Given the description of an element on the screen output the (x, y) to click on. 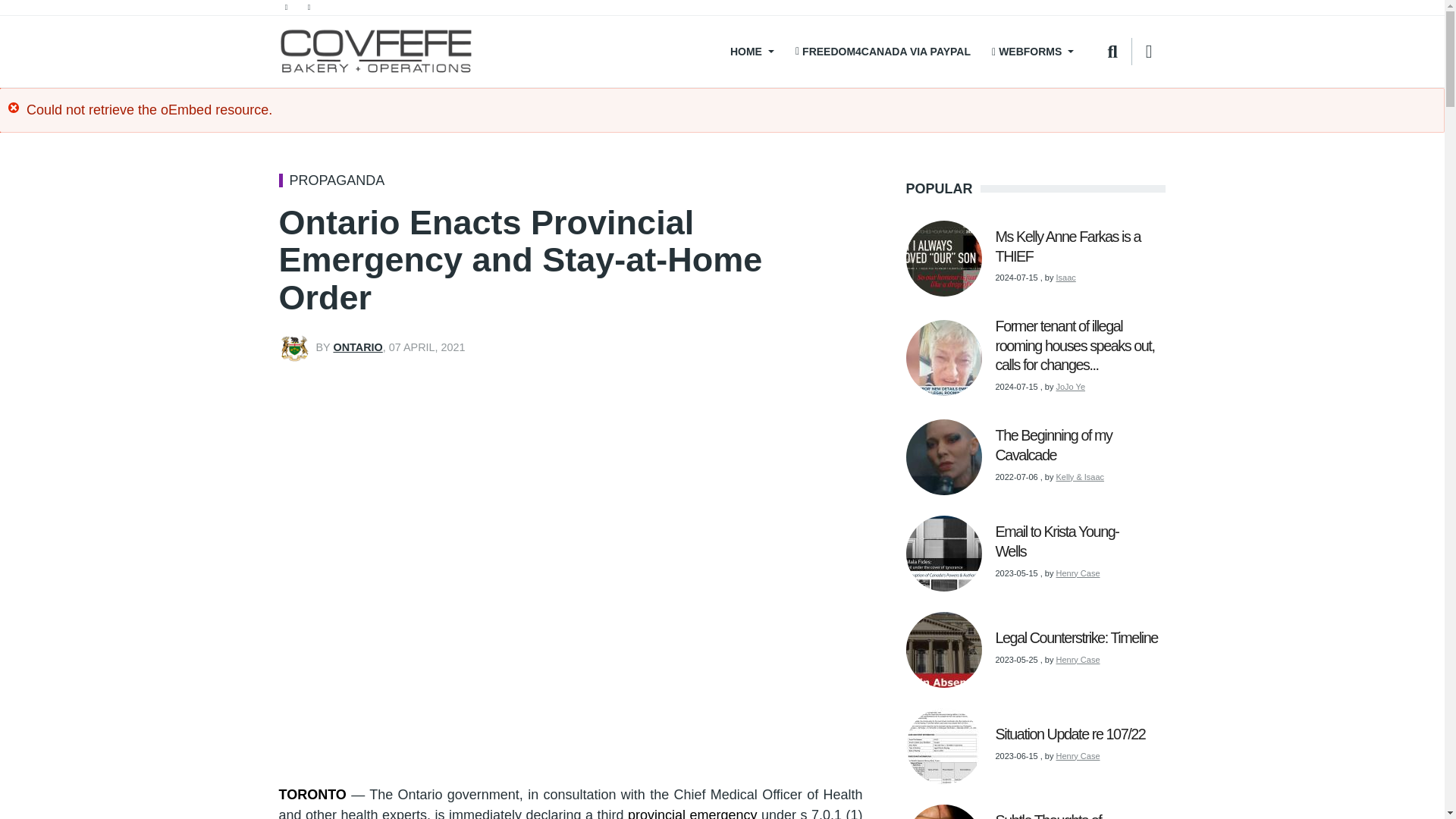
Donate to the Independent Ontario Advocacy Group via PayPal (882, 51)
WEBFORMS (1032, 51)
HOME (750, 51)
FREEDOM4CANADA VIA PAYPAL (882, 51)
Home (376, 51)
View user profile. (357, 346)
